Given the description of an element on the screen output the (x, y) to click on. 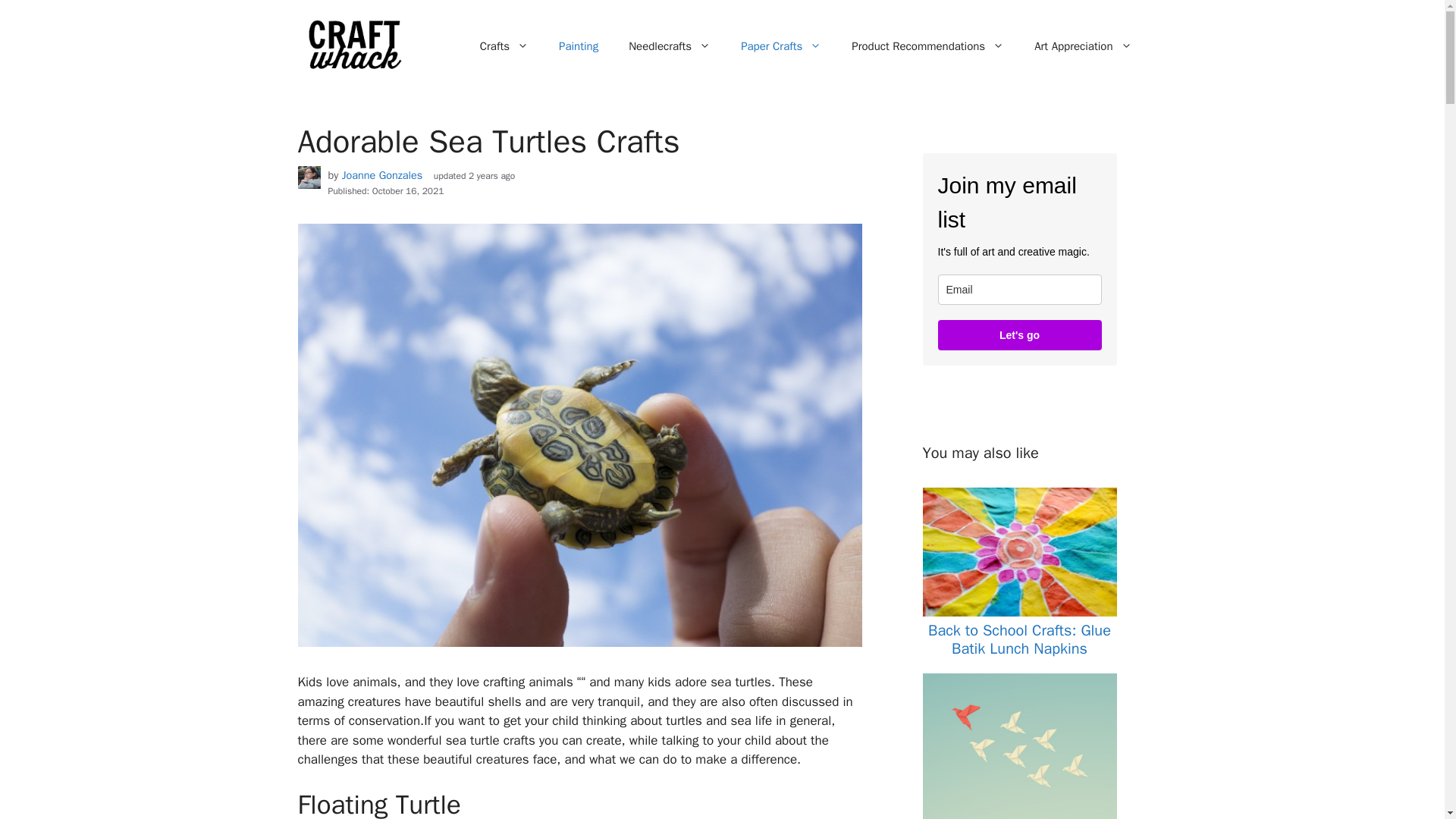
Paper Crafts (780, 45)
Needlecrafts (668, 45)
Crafts (503, 45)
Back to School Crafts: Glue Batik Lunch Napkins (1018, 611)
View all posts by Joanne Gonzales (382, 174)
Back to School Crafts: Glue Batik Lunch Napkins (1019, 639)
Painting (577, 45)
